Given the description of an element on the screen output the (x, y) to click on. 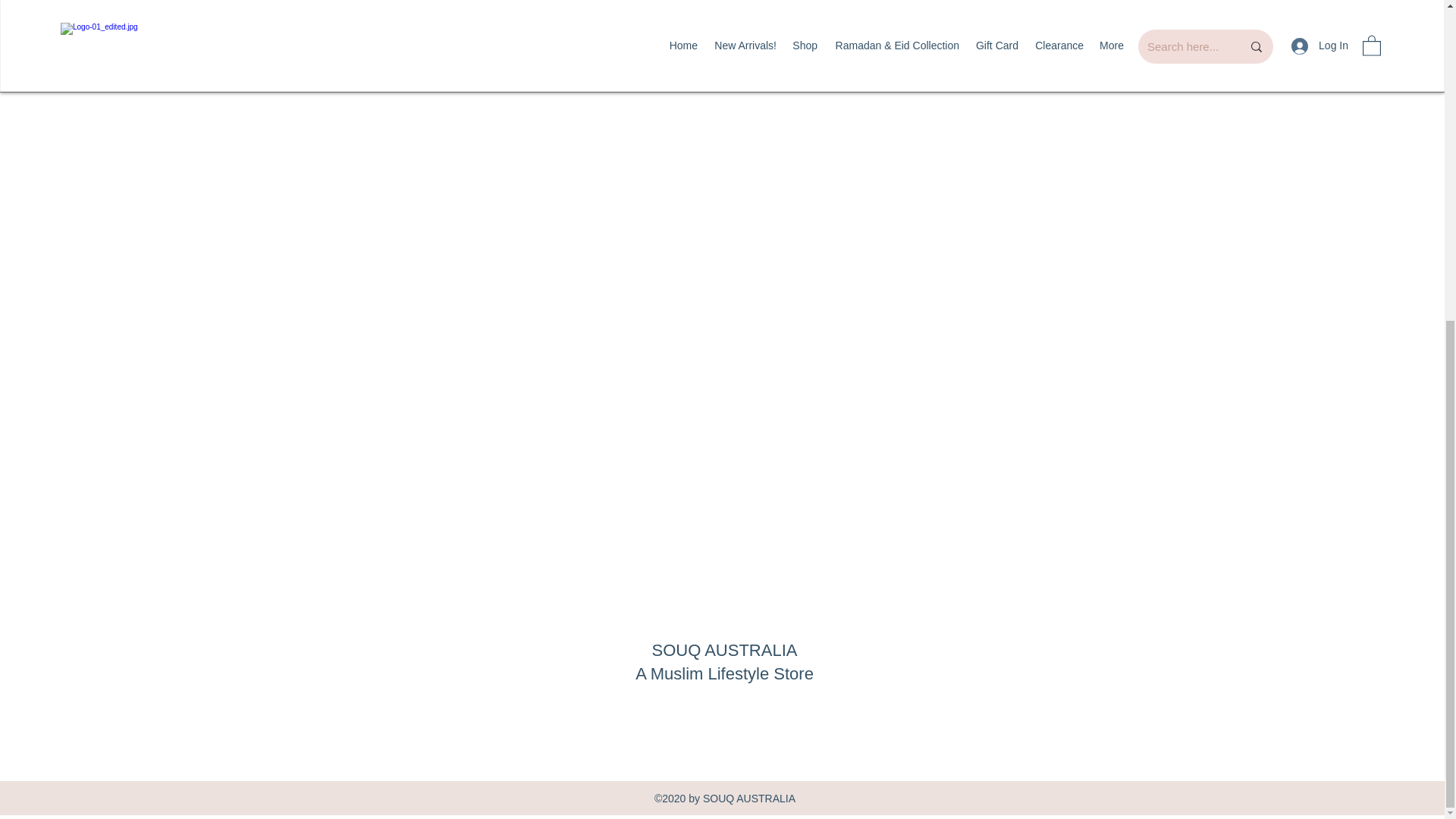
SOUQ AUSTRALIA (724, 650)
